Given the description of an element on the screen output the (x, y) to click on. 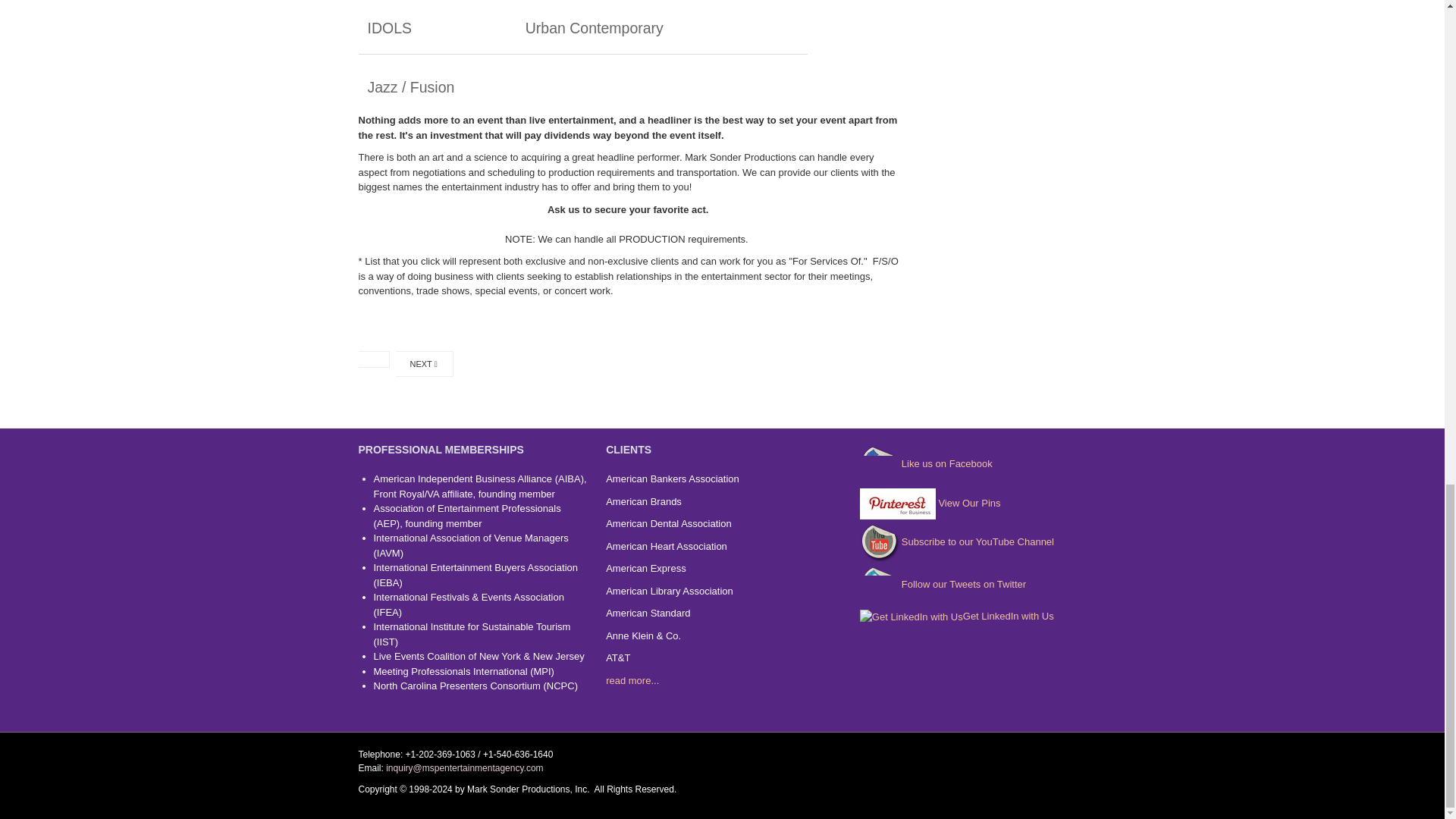
Headliners Page 2 (422, 363)
